Given the description of an element on the screen output the (x, y) to click on. 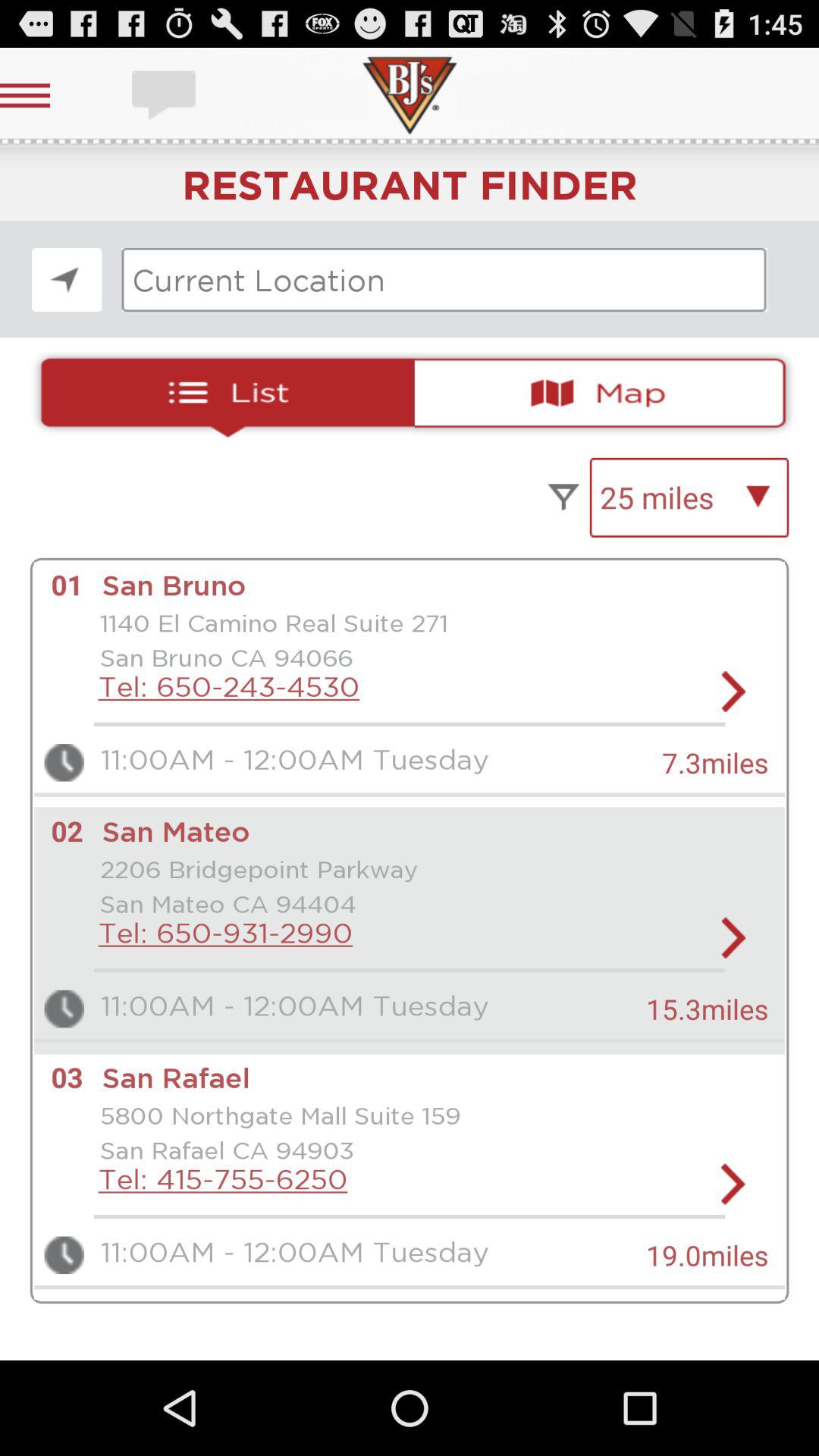
toggle resturants list (222, 392)
